Given the description of an element on the screen output the (x, y) to click on. 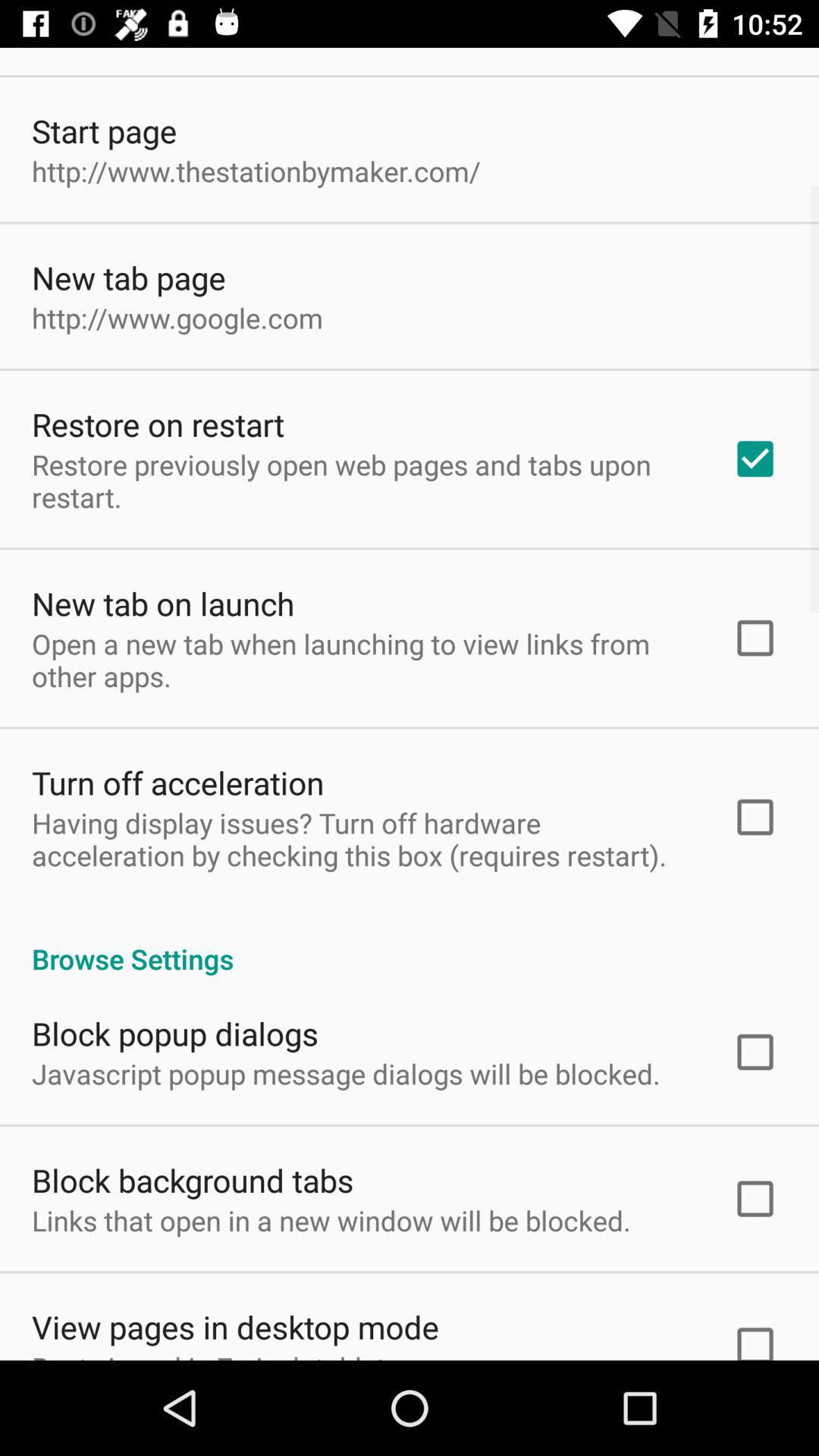
choose the browse settings (409, 942)
